Given the description of an element on the screen output the (x, y) to click on. 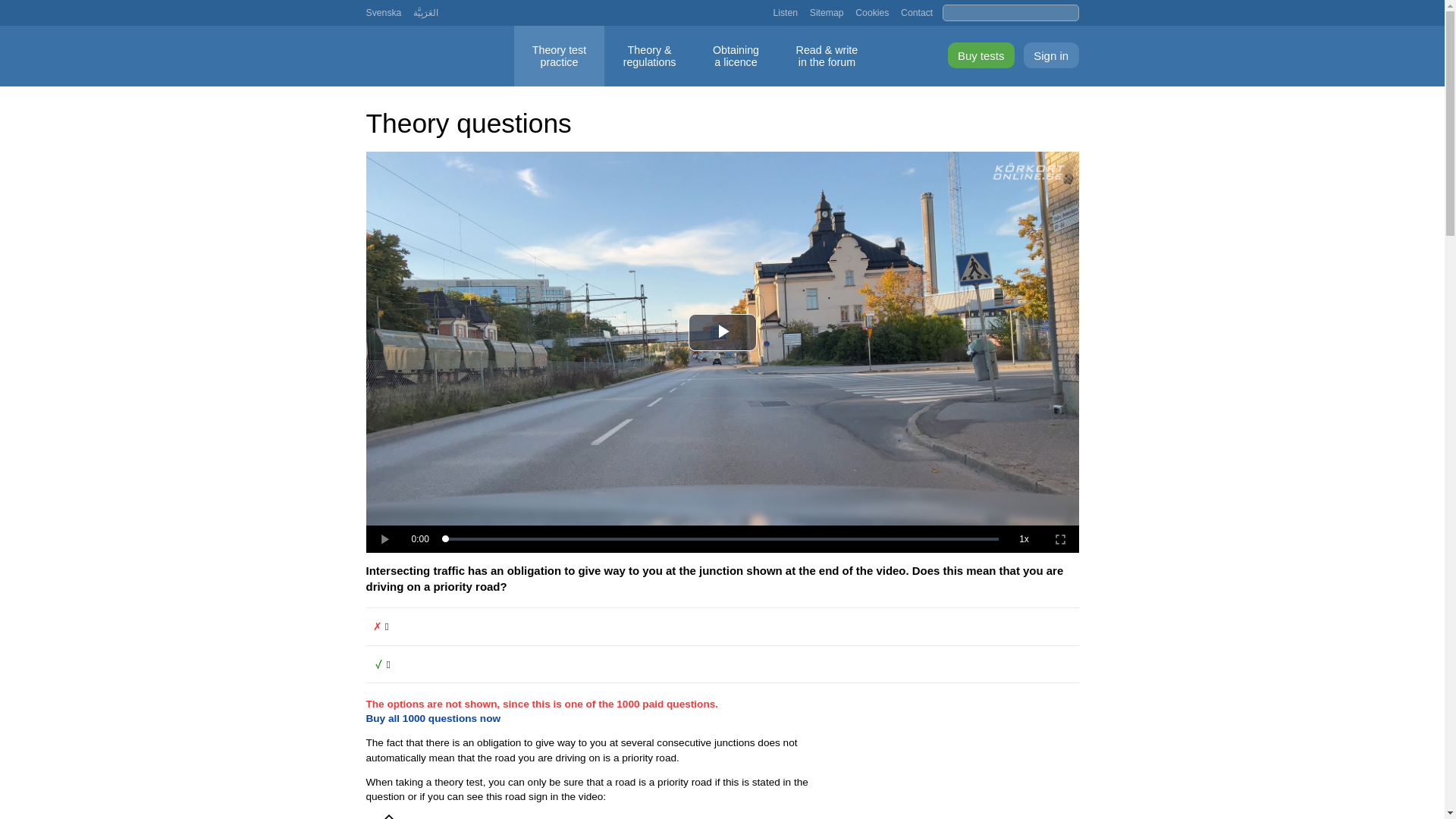
Play Video (722, 332)
Play (383, 538)
Buy tests (980, 54)
Cookies (735, 55)
Svenska (872, 12)
Play Video (383, 12)
Listen (722, 332)
Contact (785, 12)
Play (917, 12)
Fullscreen (383, 538)
Playback Rate (1060, 538)
Sitemap (1024, 538)
Sign in (826, 12)
